Given the description of an element on the screen output the (x, y) to click on. 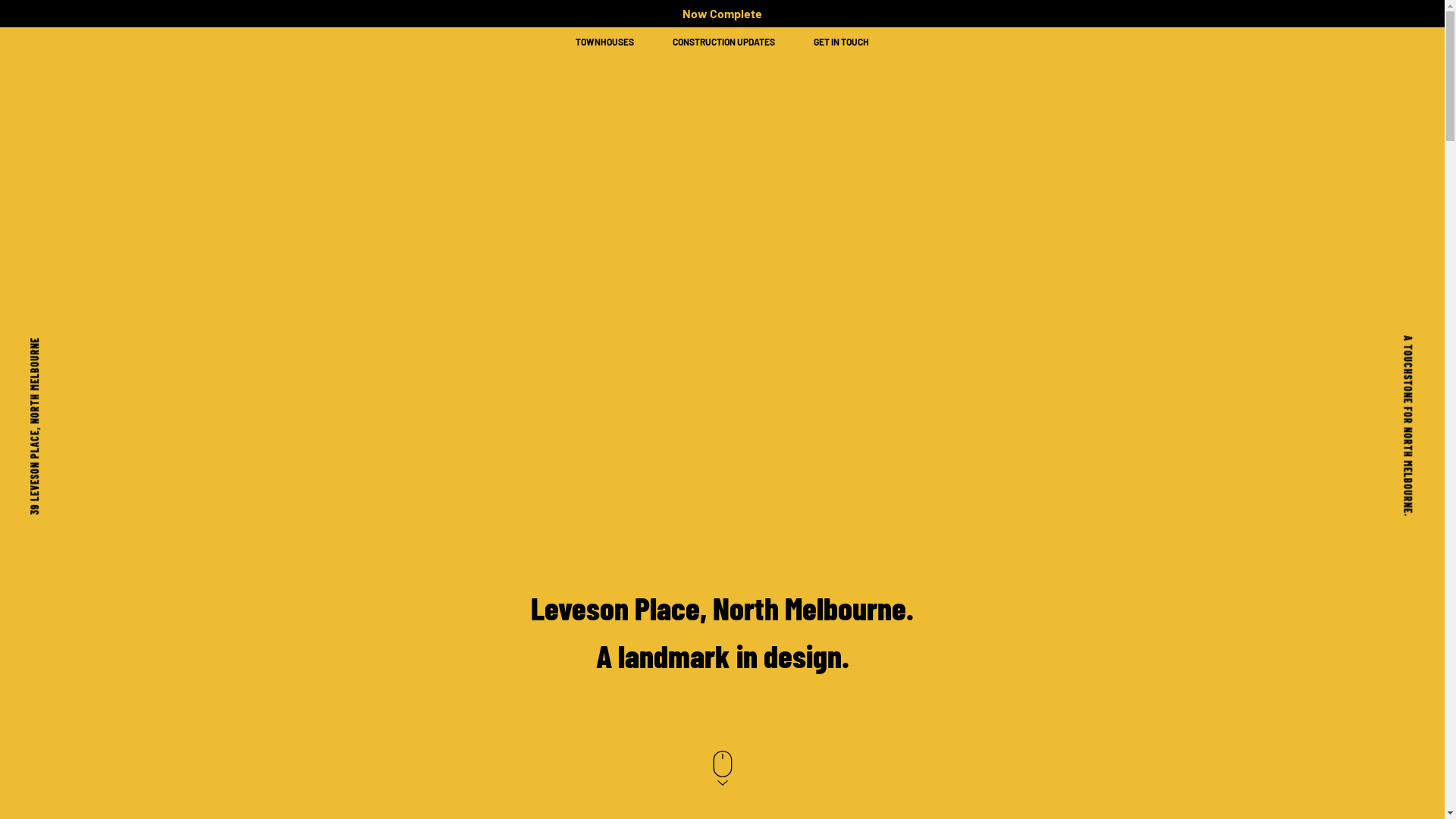
TOWNHOUSES Element type: text (604, 42)
GET IN TOUCH Element type: text (841, 42)
CONSTRUCTION UPDATES Element type: text (723, 42)
